Given the description of an element on the screen output the (x, y) to click on. 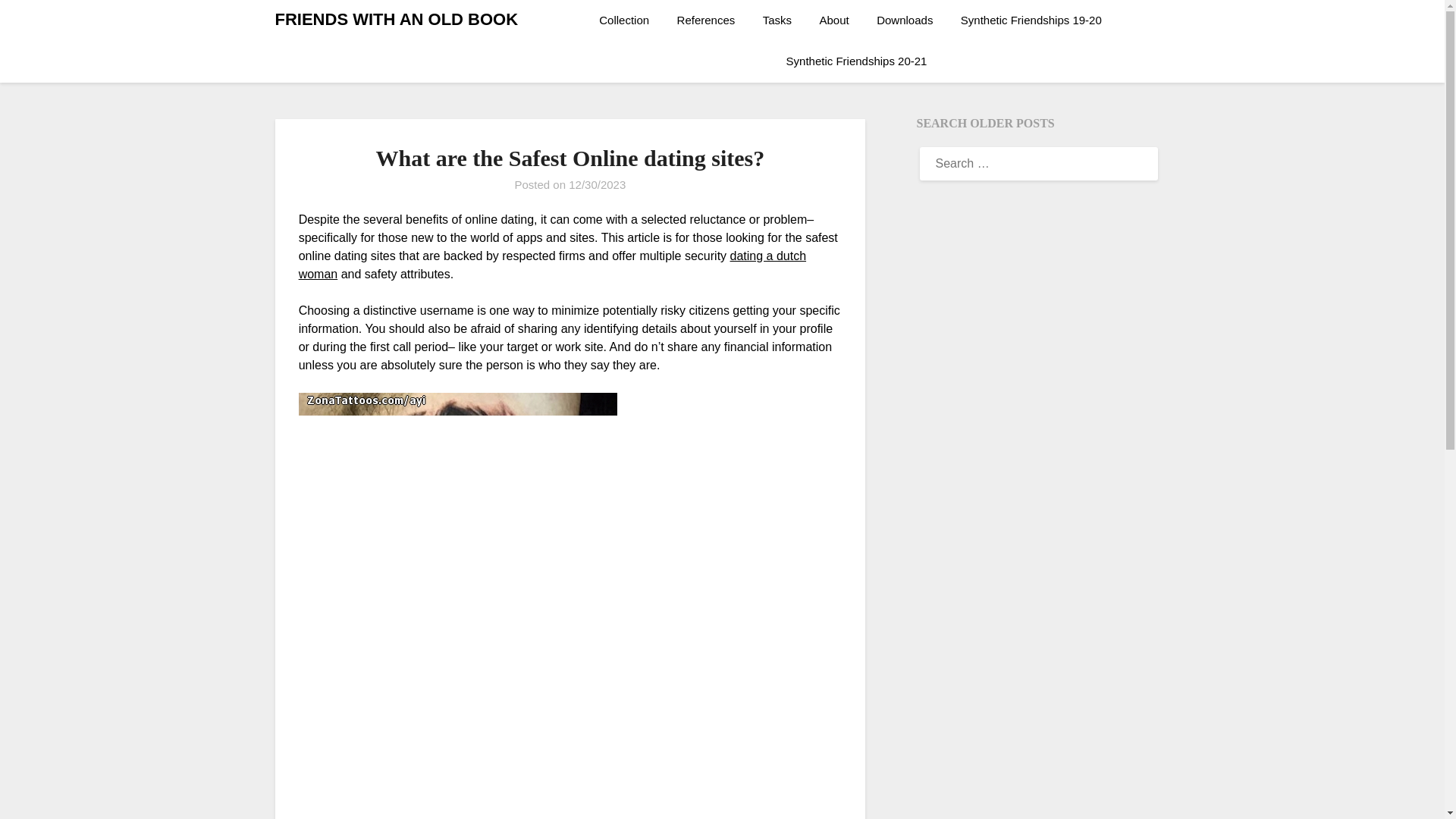
Search (38, 22)
FRIENDS WITH AN OLD BOOK (396, 19)
dating a dutch woman (552, 264)
References (706, 20)
About (834, 20)
Collection (629, 20)
Synthetic Friendships 20-21 (856, 60)
Downloads (904, 20)
Tasks (777, 20)
Synthetic Friendships 19-20 (1031, 20)
